Given the description of an element on the screen output the (x, y) to click on. 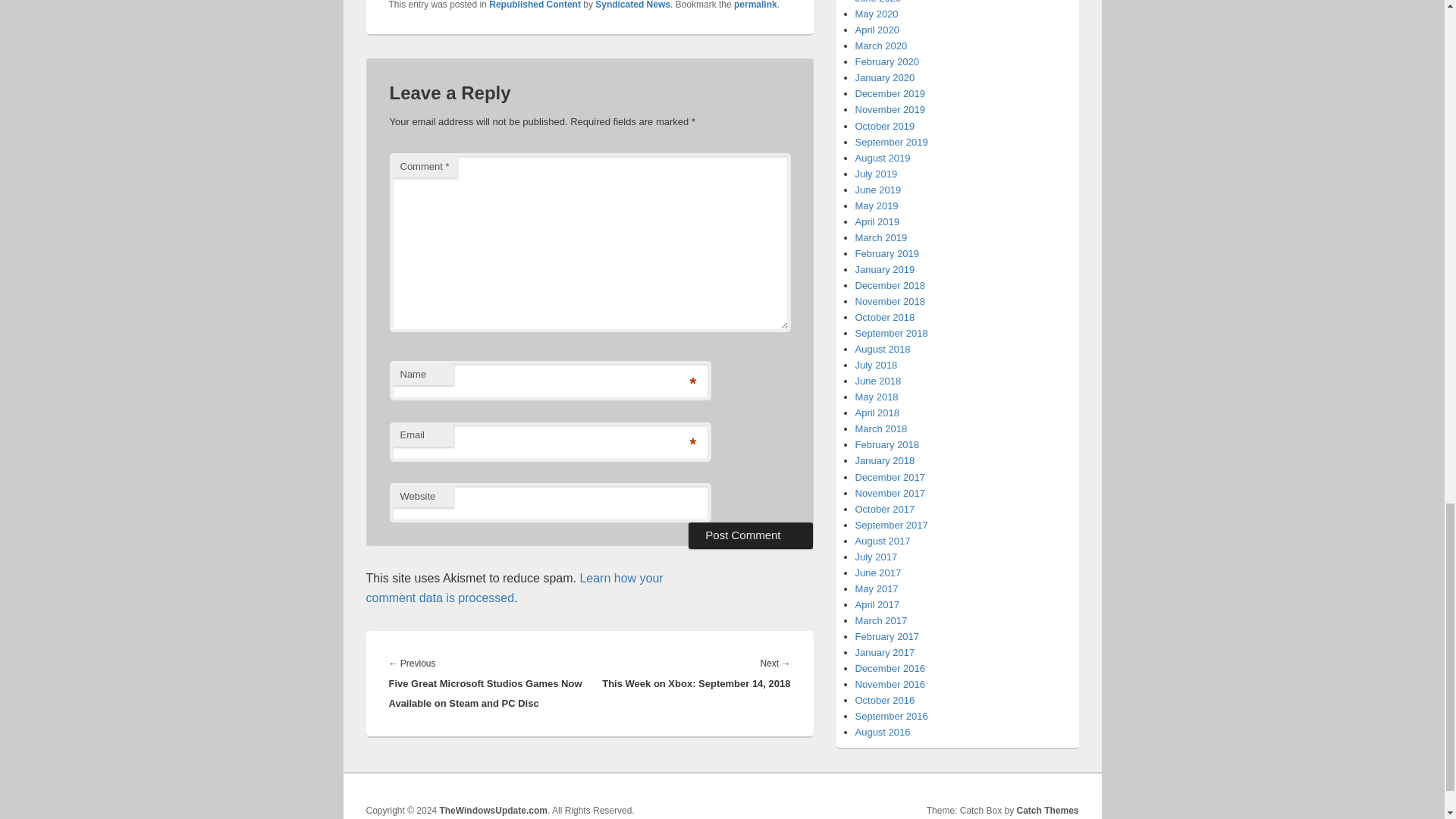
Syndicated News (632, 4)
Post Comment (750, 534)
Republished Content (534, 4)
permalink (755, 4)
